Given the description of an element on the screen output the (x, y) to click on. 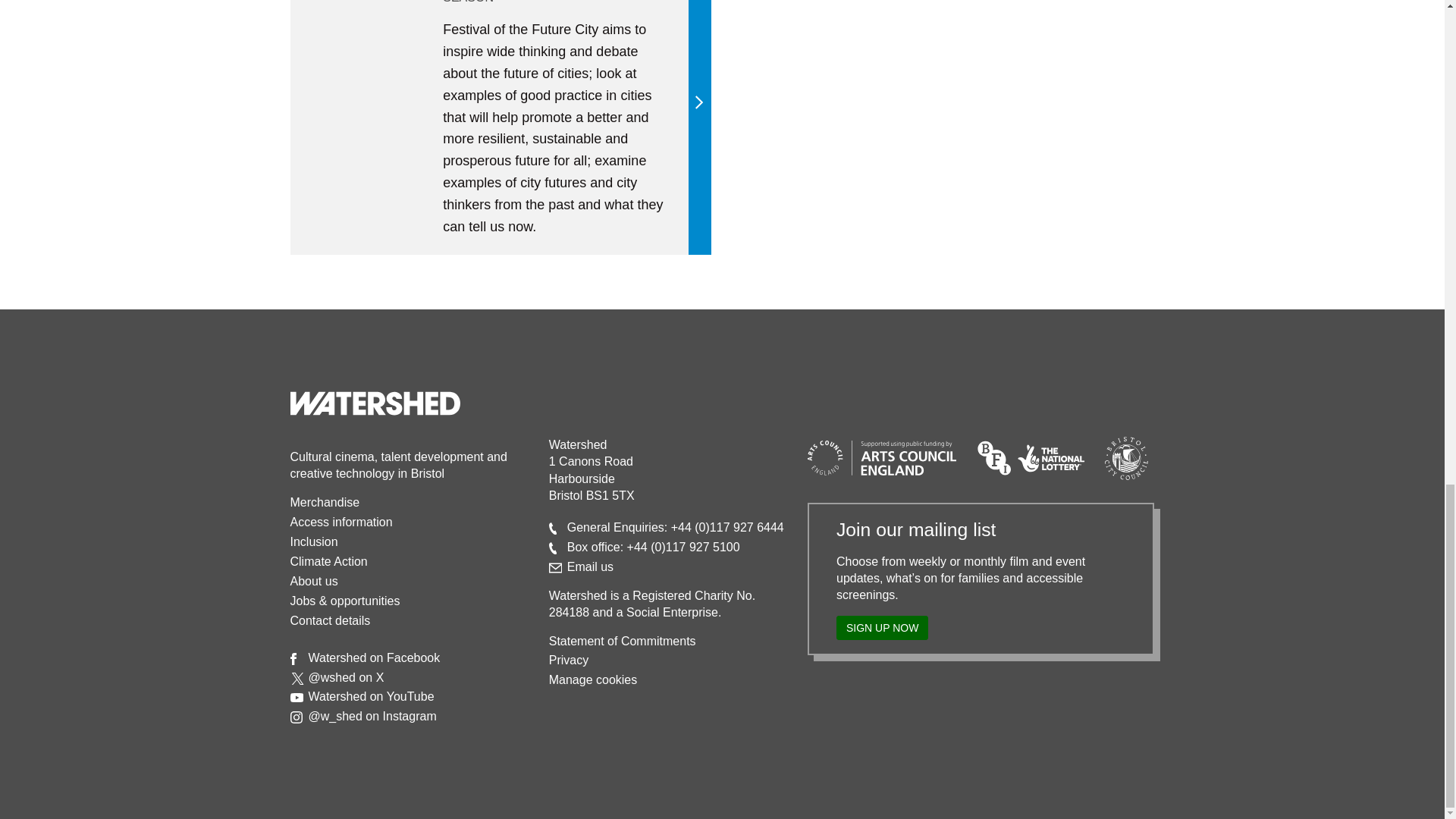
watershed (374, 403)
Watershed access information and details (340, 521)
instagram (295, 717)
Access information (340, 521)
Climate Action (327, 561)
Information about Watershed's Climate Action  (327, 561)
twitter (296, 678)
About us (313, 581)
Contact details (329, 620)
